Given the description of an element on the screen output the (x, y) to click on. 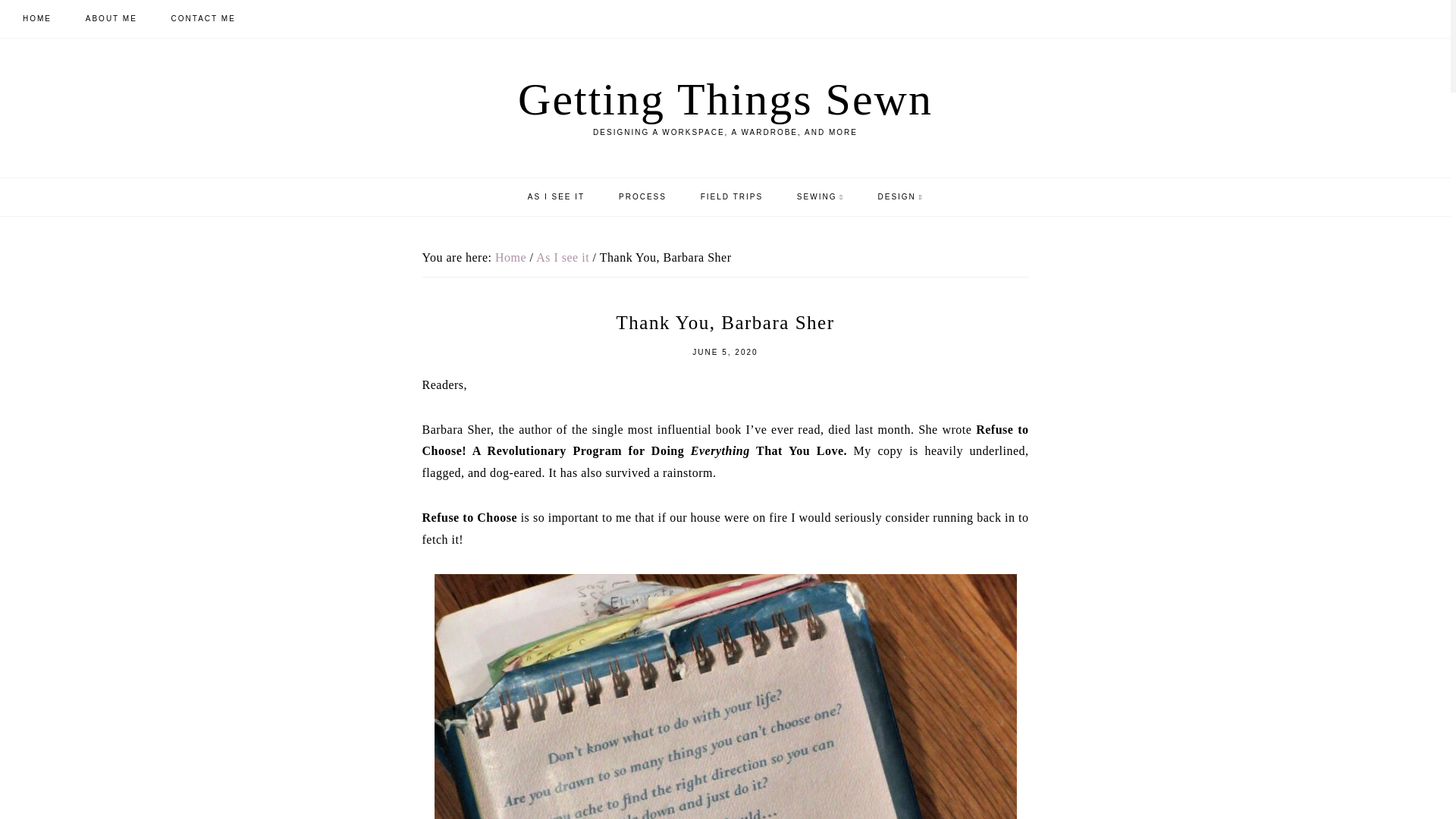
AS I SEE IT (556, 197)
FIELD TRIPS (731, 197)
ABOUT ME (110, 18)
search (895, 370)
PROCESS (642, 197)
As I see it (562, 256)
SEWING (820, 197)
CONTACT ME (203, 18)
Getting Things Sewn (725, 99)
